Given the description of an element on the screen output the (x, y) to click on. 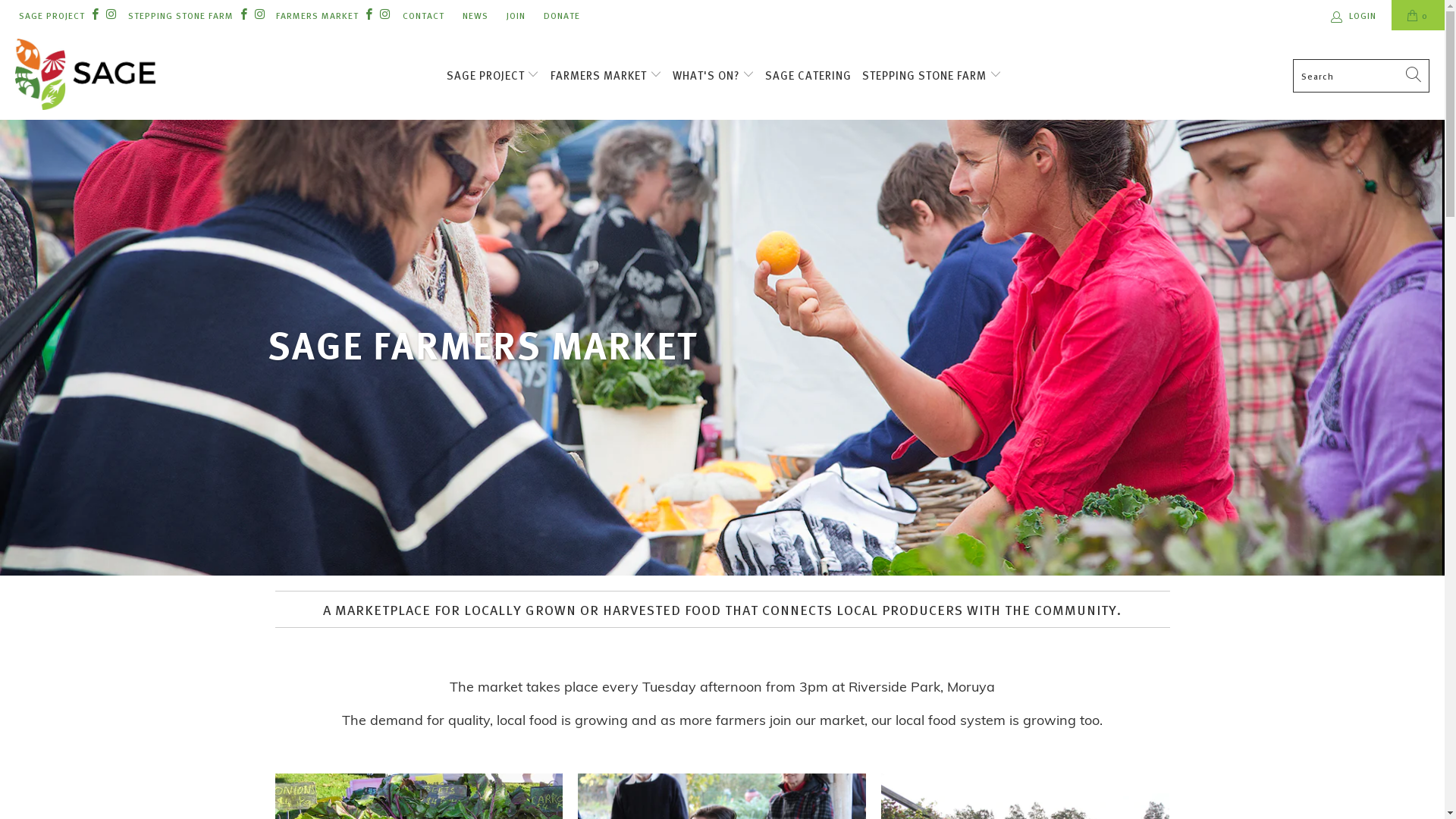
DONATE Element type: text (560, 15)
SAGE Project, SAGE Farmers Market & Stepping Stone Farm Element type: hover (85, 75)
SAGE CATERING Element type: text (808, 75)
CONTACT Element type: text (422, 15)
STEPPING STONE FARM Element type: text (931, 75)
WHAT'S ON? Element type: text (713, 75)
FARMERS MARKET Element type: text (317, 15)
FARMERS MARKET Element type: text (606, 75)
NEWS Element type: text (475, 15)
JOIN Element type: text (515, 15)
SAGE PROJECT Element type: text (51, 15)
0 Element type: text (1417, 15)
LOGIN Element type: text (1354, 15)
SAGE PROJECT Element type: text (492, 75)
STEPPING STONE FARM Element type: text (179, 15)
